Given the description of an element on the screen output the (x, y) to click on. 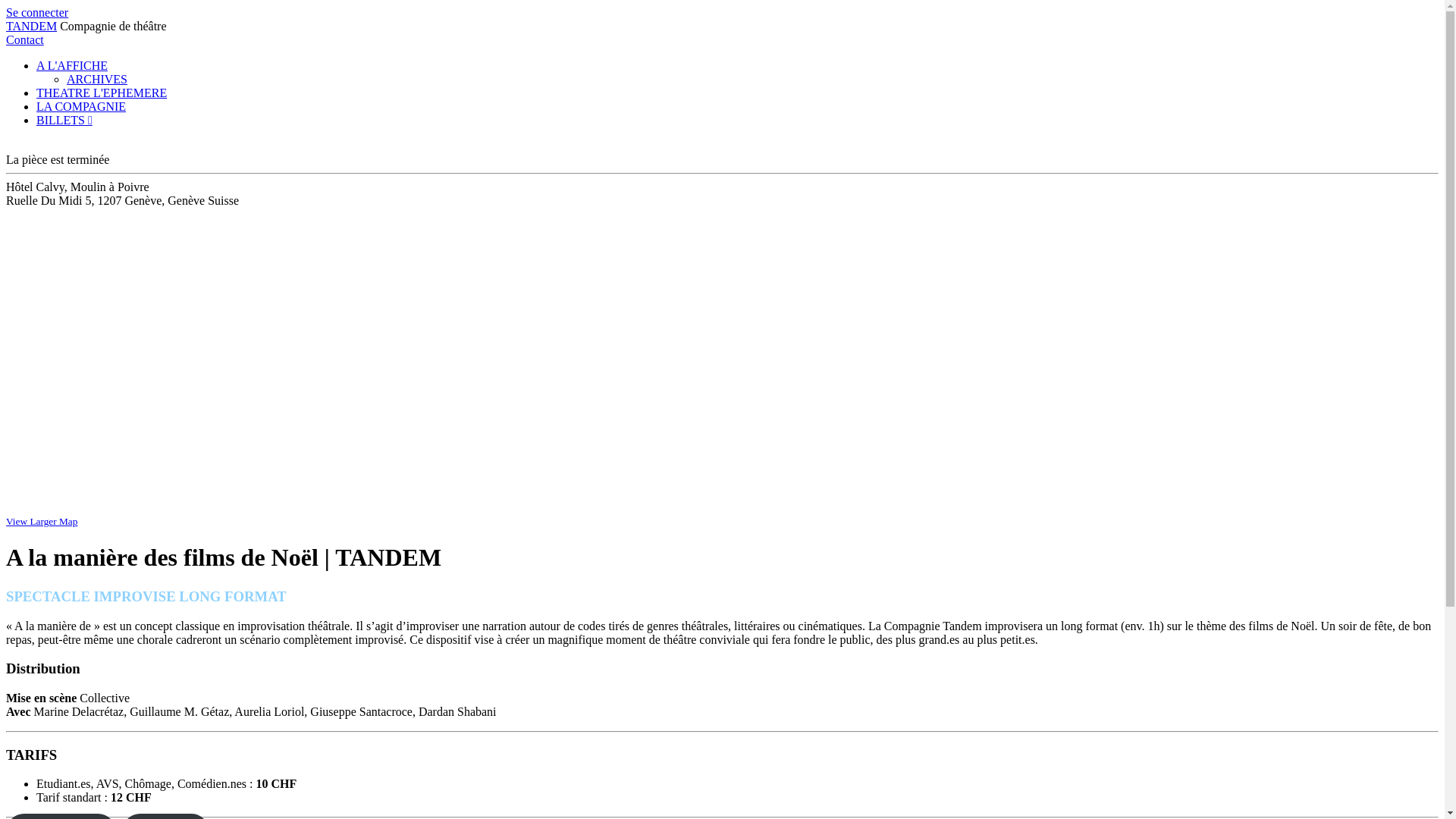
View Larger Map Element type: text (41, 521)
ARCHIVES Element type: text (96, 78)
A L'AFFICHE Element type: text (71, 65)
LA COMPAGNIE Element type: text (80, 106)
Contact Element type: text (24, 39)
THEATRE L'EPHEMERE Element type: text (101, 92)
Se connecter Element type: text (37, 12)
TANDEM Element type: text (31, 25)
